Given the description of an element on the screen output the (x, y) to click on. 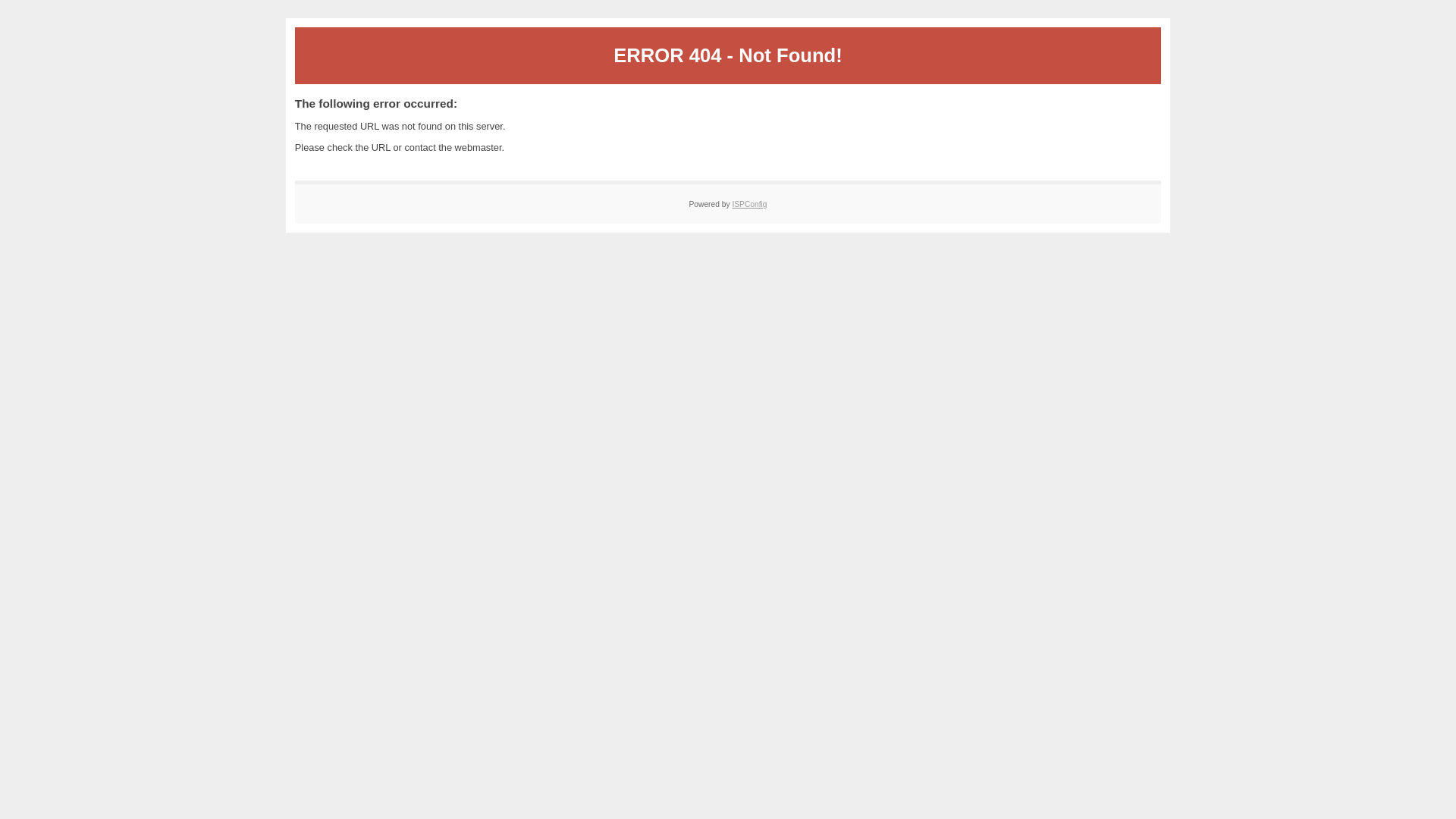
ISPConfig Element type: text (748, 204)
